Given the description of an element on the screen output the (x, y) to click on. 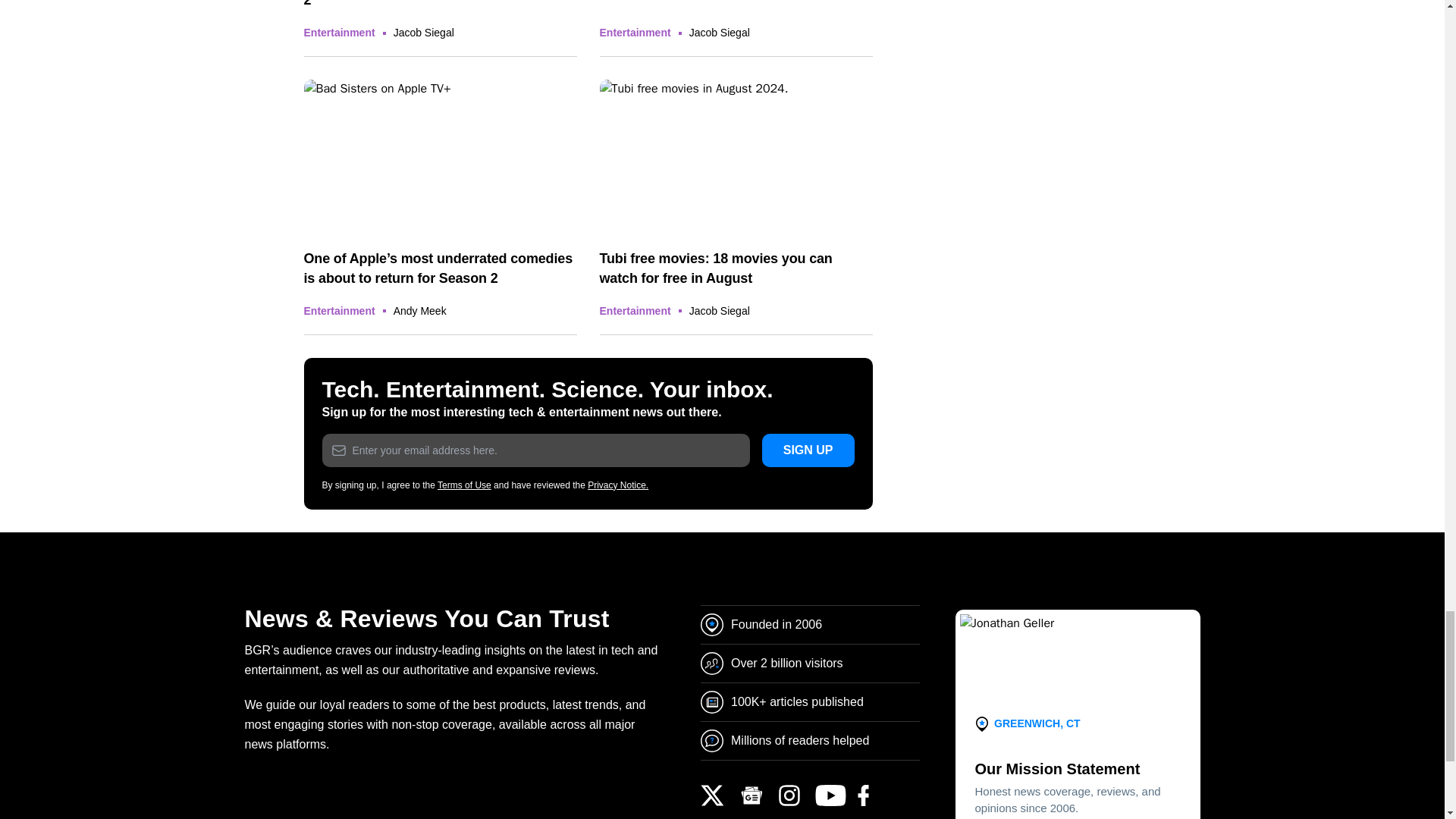
Posts by Andy Meek (419, 310)
Bad Sisters (439, 156)
Posts by Jacob Siegal (718, 32)
Tubi movies (735, 156)
Posts by Jacob Siegal (718, 310)
Posts by Jacob Siegal (423, 32)
